Given the description of an element on the screen output the (x, y) to click on. 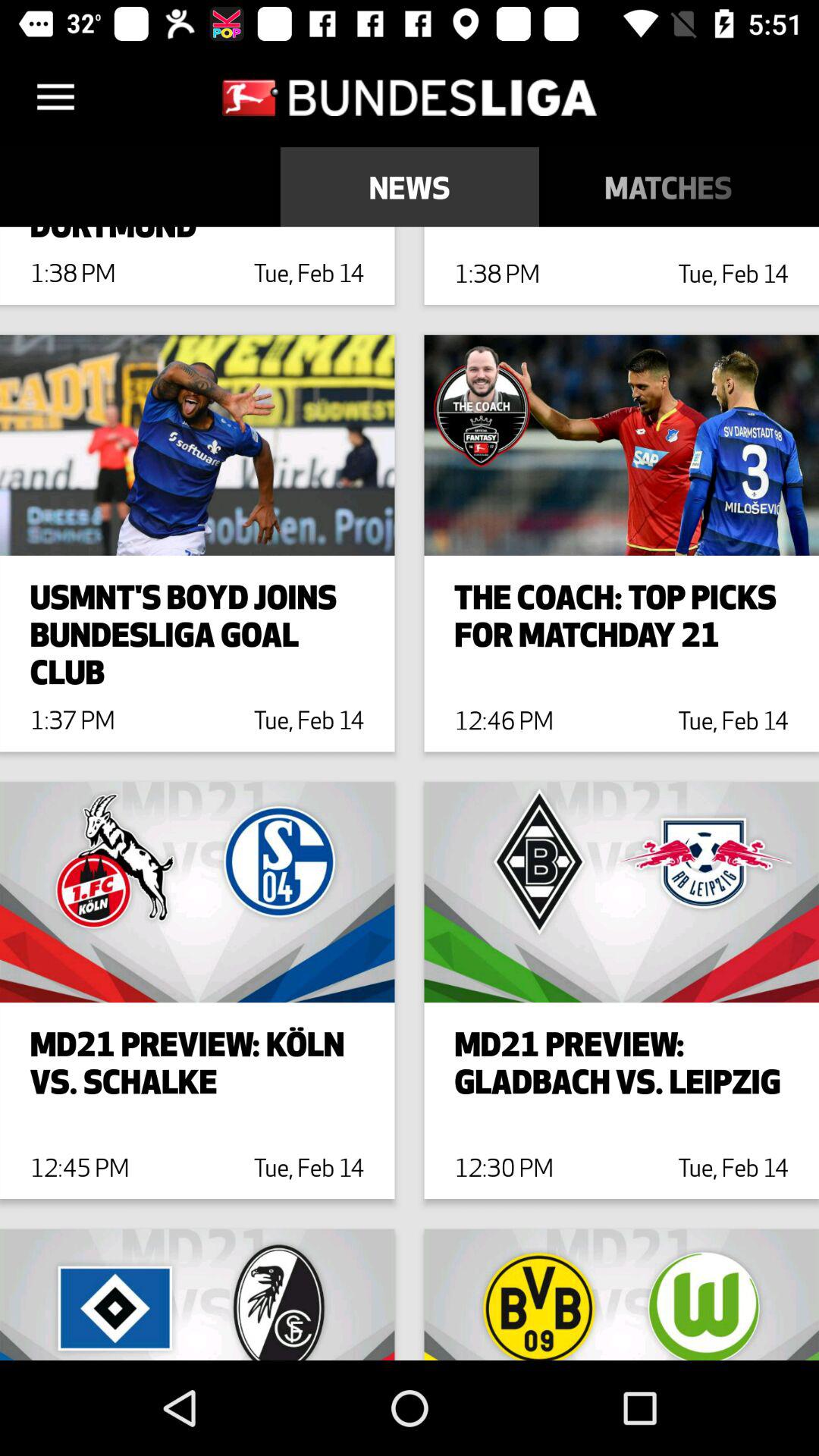
select item next to matches (808, 186)
